Given the description of an element on the screen output the (x, y) to click on. 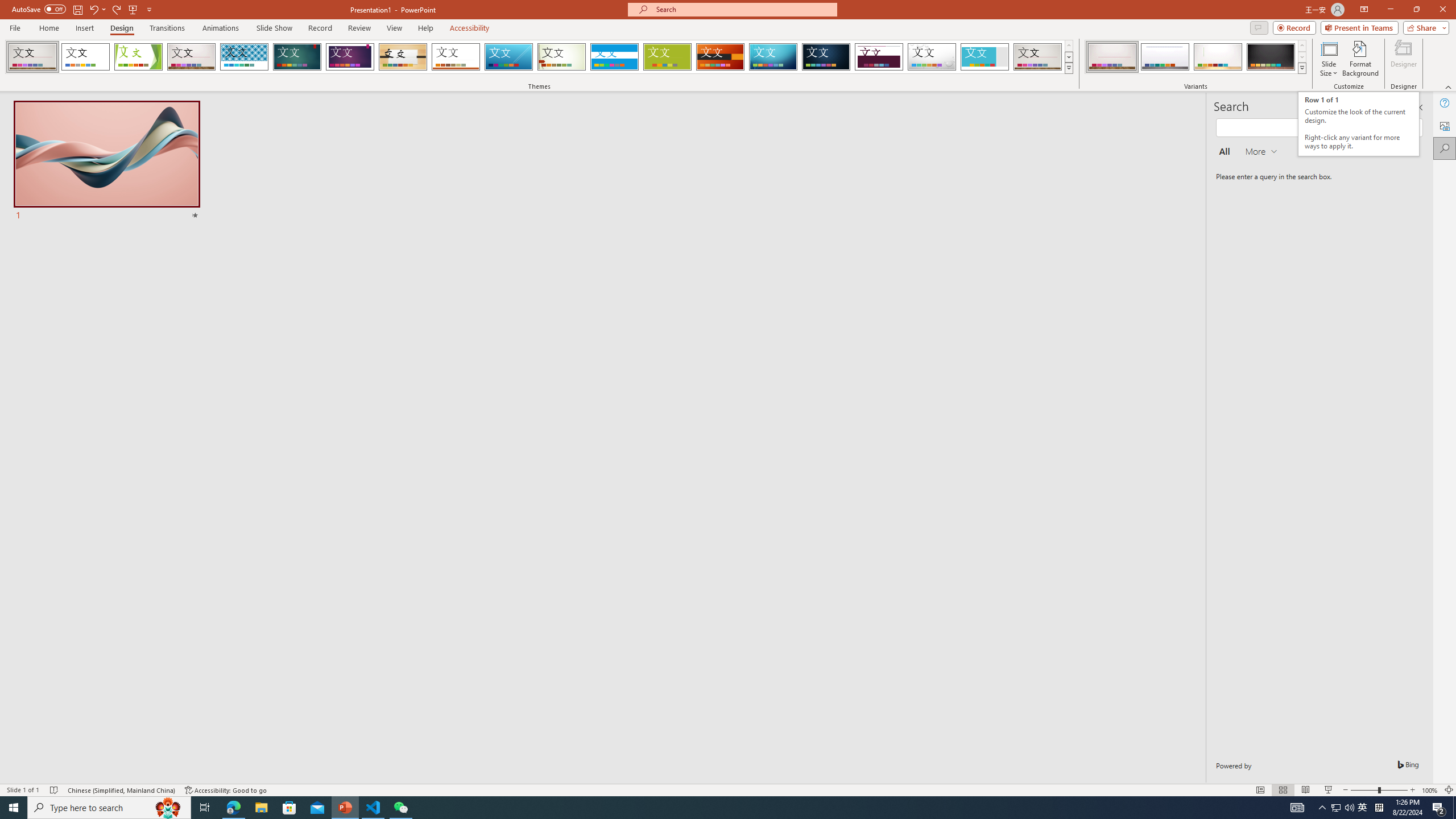
Ion Boardroom (350, 56)
Gallery Variant 3 (1217, 56)
Slice (508, 56)
Gallery Variant 2 (1164, 56)
